Given the description of an element on the screen output the (x, y) to click on. 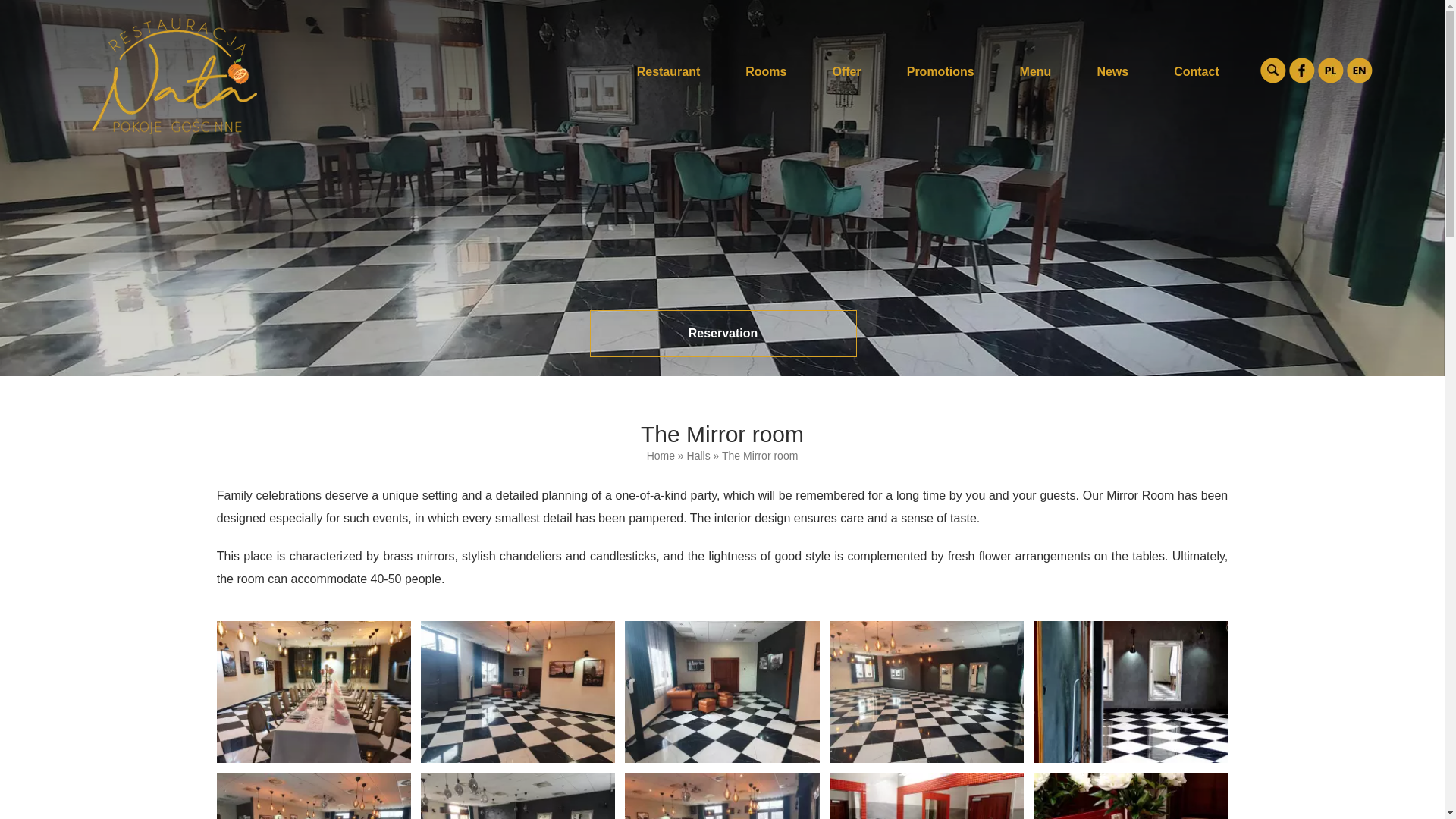
News (1112, 71)
sala-lustrzana-3 (926, 691)
Offer (846, 71)
sala-lustrzana-1 (313, 691)
Reservation (723, 333)
sala-lustrzana-8 (926, 796)
sala-lustrzana-9 (1130, 796)
sala-lustrzana-2 (721, 691)
Contact (1196, 71)
Restaurant (668, 71)
sala-lustrzana-4 (1130, 691)
Rooms (765, 71)
sala-lustrzana-7 (721, 796)
Home (660, 455)
